Given the description of an element on the screen output the (x, y) to click on. 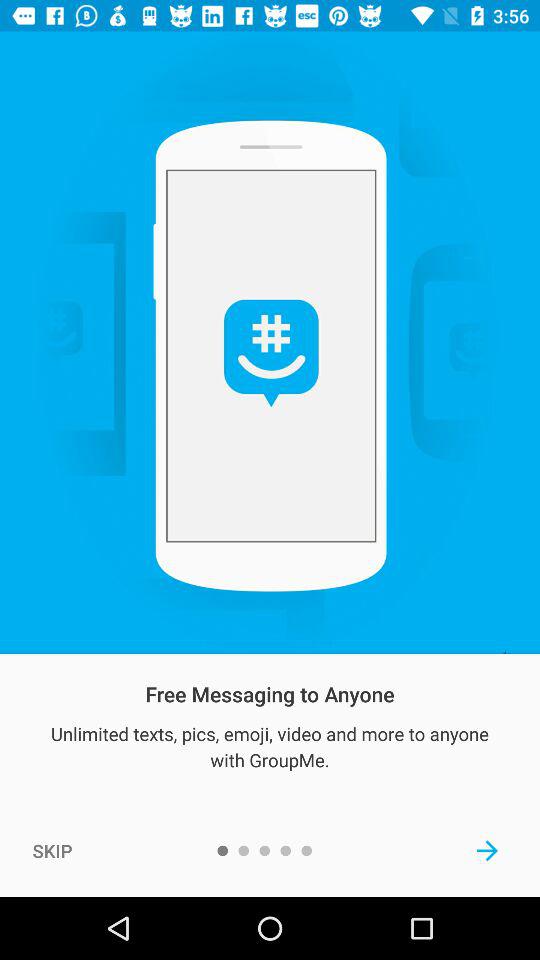
flip to skip icon (52, 850)
